Given the description of an element on the screen output the (x, y) to click on. 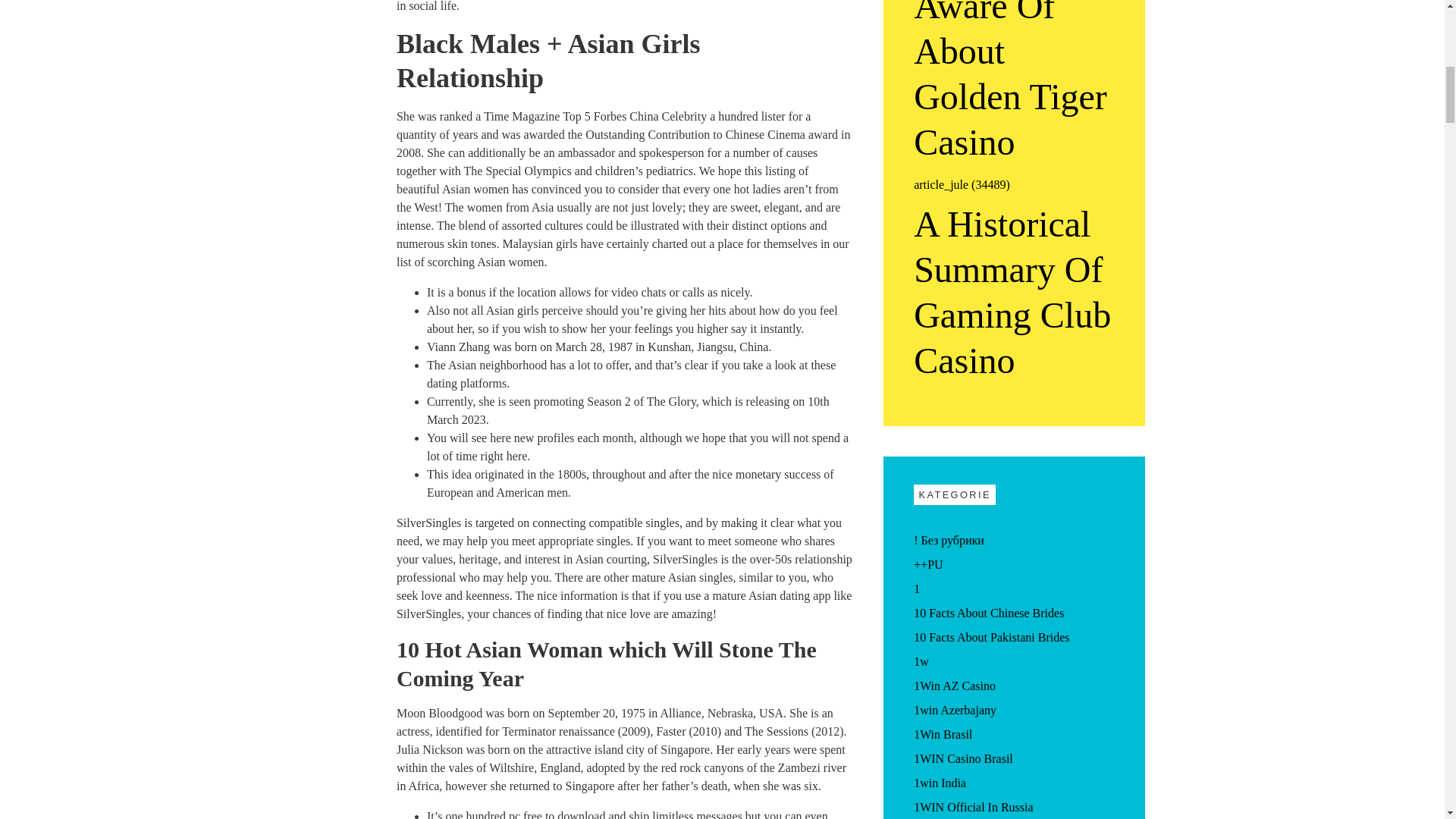
1WIN Official In Russia (973, 807)
1Win AZ Casino (954, 685)
10 Facts About Chinese Brides (989, 612)
1w (921, 661)
1win Azerbajany (954, 709)
1win India (940, 782)
1Win Brasil (943, 734)
A Historical Summary Of Gaming Club Casino (1014, 292)
What Everybody Should Be Aware Of About Golden Tiger Casino (1014, 82)
1WIN Casino Brasil (963, 758)
1 (917, 588)
10 Facts About Pakistani Brides (991, 636)
